Given the description of an element on the screen output the (x, y) to click on. 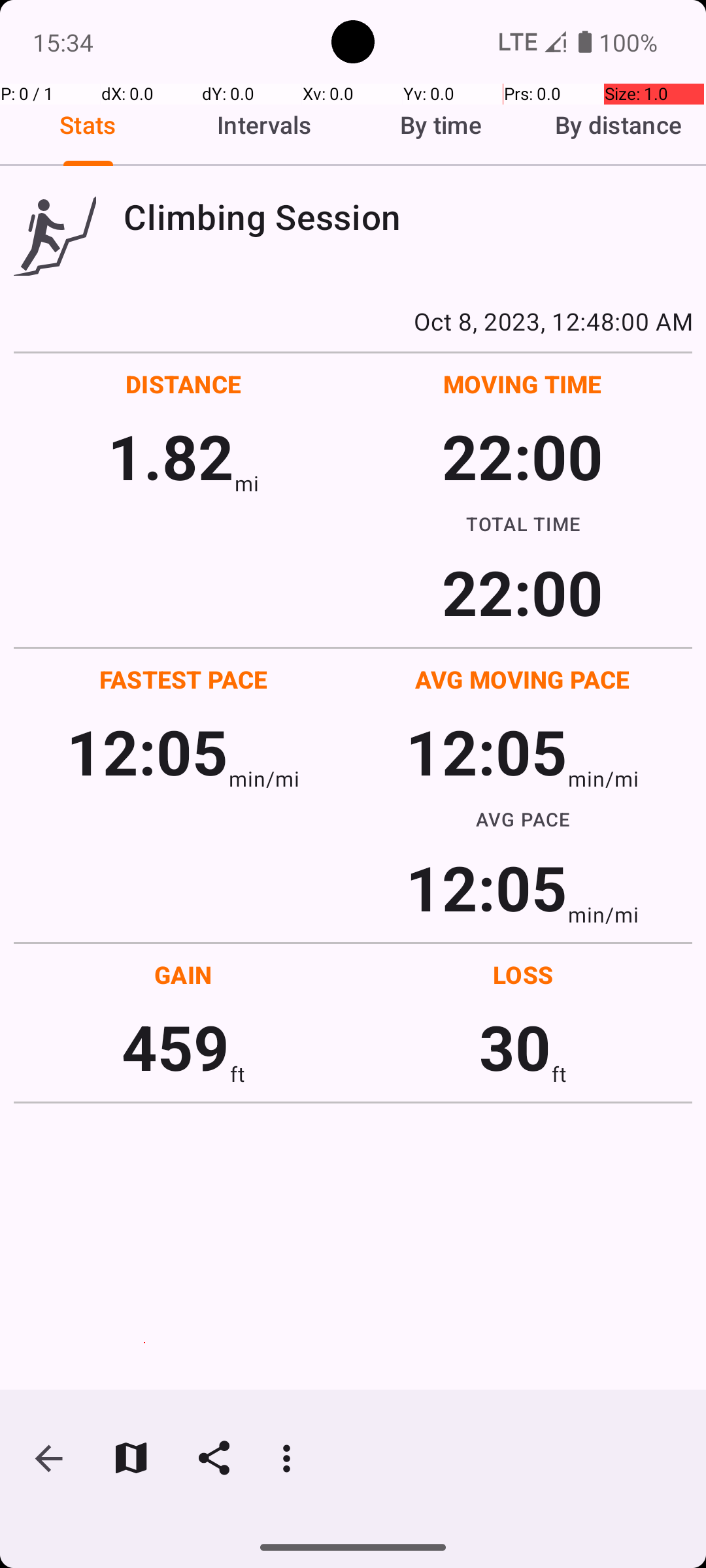
Climbing Session Element type: android.widget.TextView (407, 216)
Oct 8, 2023, 12:48:00 AM Element type: android.widget.TextView (352, 320)
1.82 Element type: android.widget.TextView (170, 455)
22:00 Element type: android.widget.TextView (522, 455)
12:05 Element type: android.widget.TextView (147, 750)
459 Element type: android.widget.TextView (175, 1045)
